Given the description of an element on the screen output the (x, y) to click on. 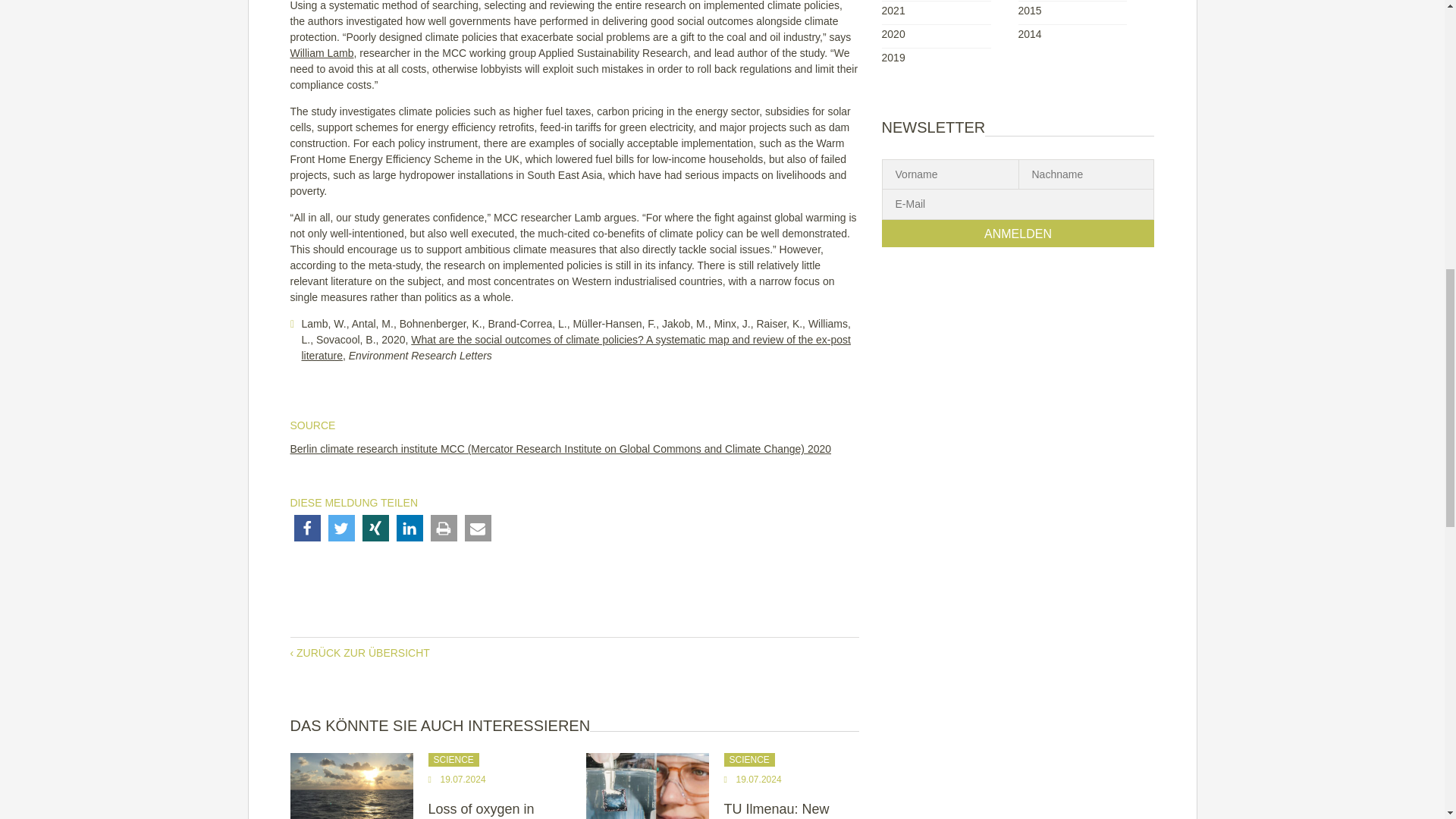
drucken (443, 528)
Bei Facebook teilen (307, 528)
Anmelden (1018, 233)
Bei Twitter teilen (340, 528)
Per E-Mail versenden (477, 528)
Bei LinkedIn teilen (409, 528)
Bei XING teilen (375, 528)
